Given the description of an element on the screen output the (x, y) to click on. 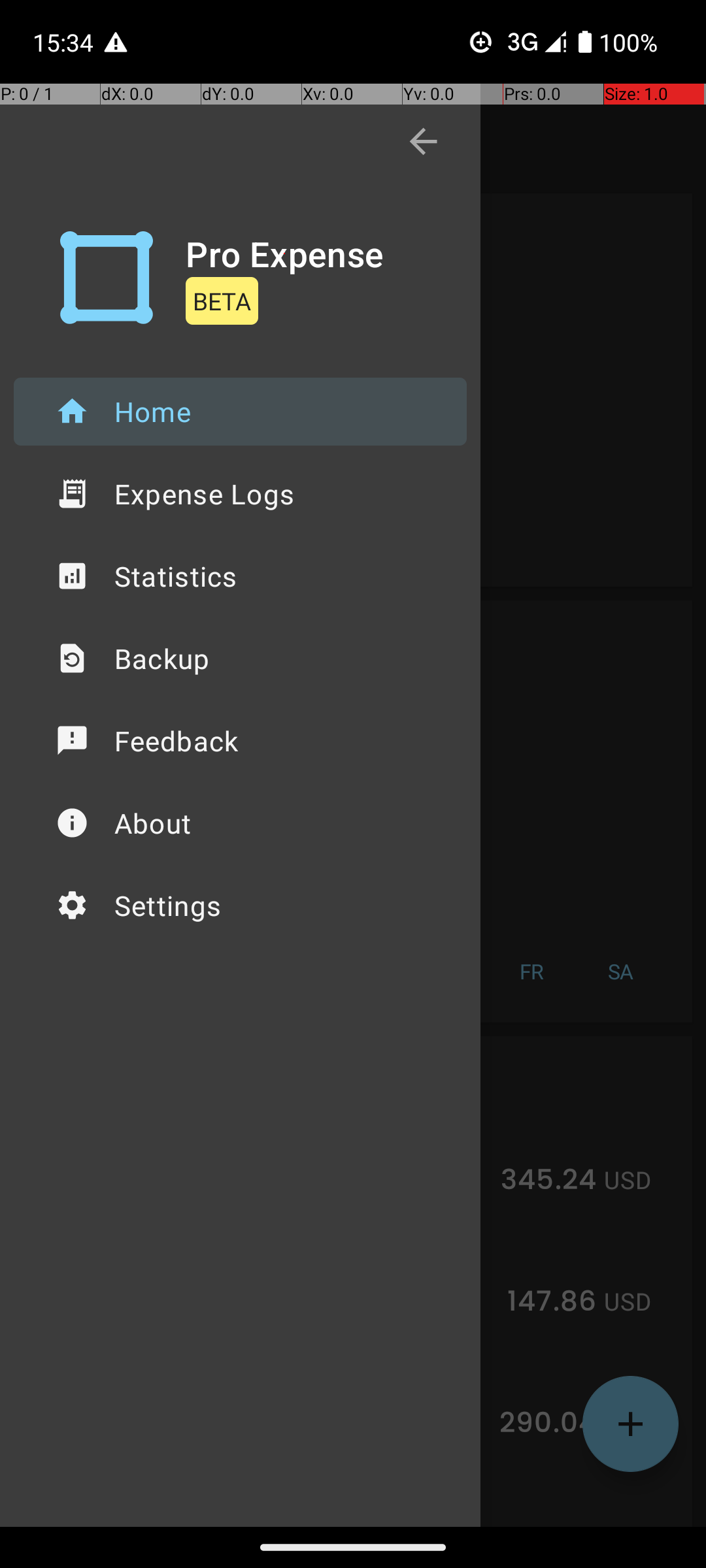
Pro Expense Element type: android.widget.TextView (284, 253)
BETA Element type: android.widget.TextView (221, 300)
Expense Logs Element type: android.widget.CheckedTextView (239, 493)
Statistics Element type: android.widget.CheckedTextView (239, 576)
Backup Element type: android.widget.CheckedTextView (239, 658)
Feedback Element type: android.widget.CheckedTextView (239, 740)
About Element type: android.widget.CheckedTextView (239, 823)
